Given the description of an element on the screen output the (x, y) to click on. 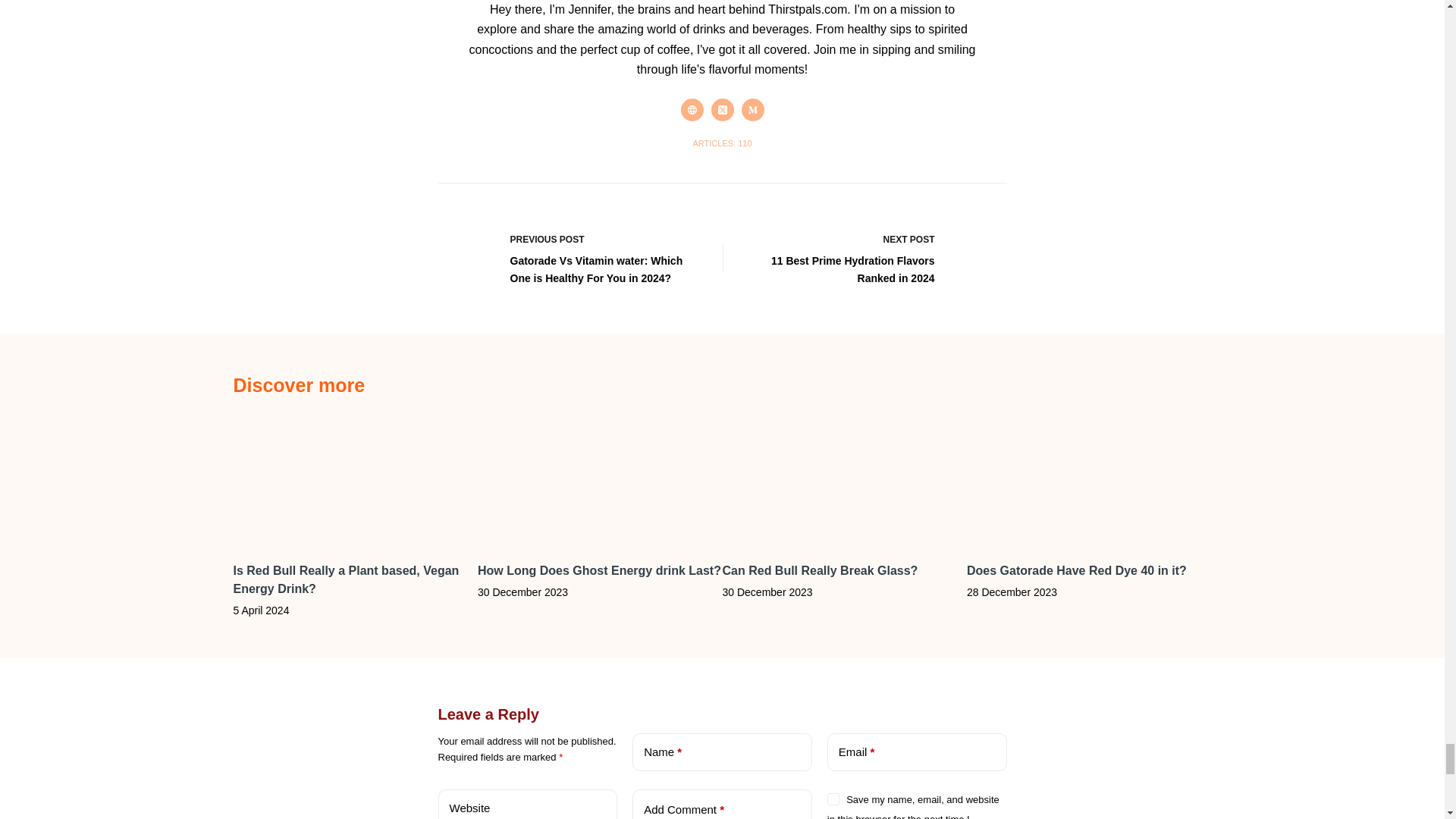
yes (833, 799)
